Given the description of an element on the screen output the (x, y) to click on. 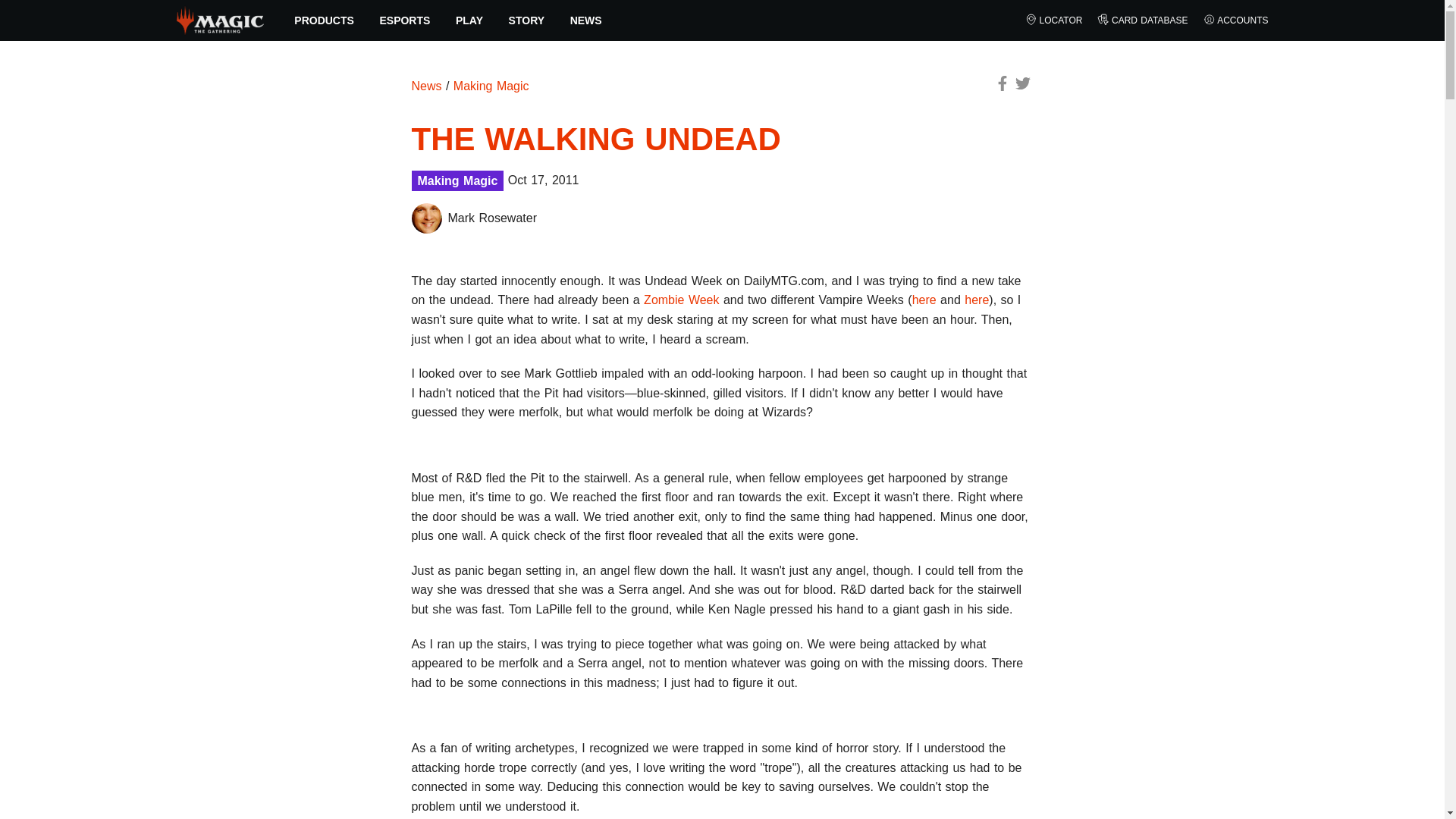
PLAY (469, 20)
ESPORTS (405, 20)
PRODUCTS (324, 20)
